Given the description of an element on the screen output the (x, y) to click on. 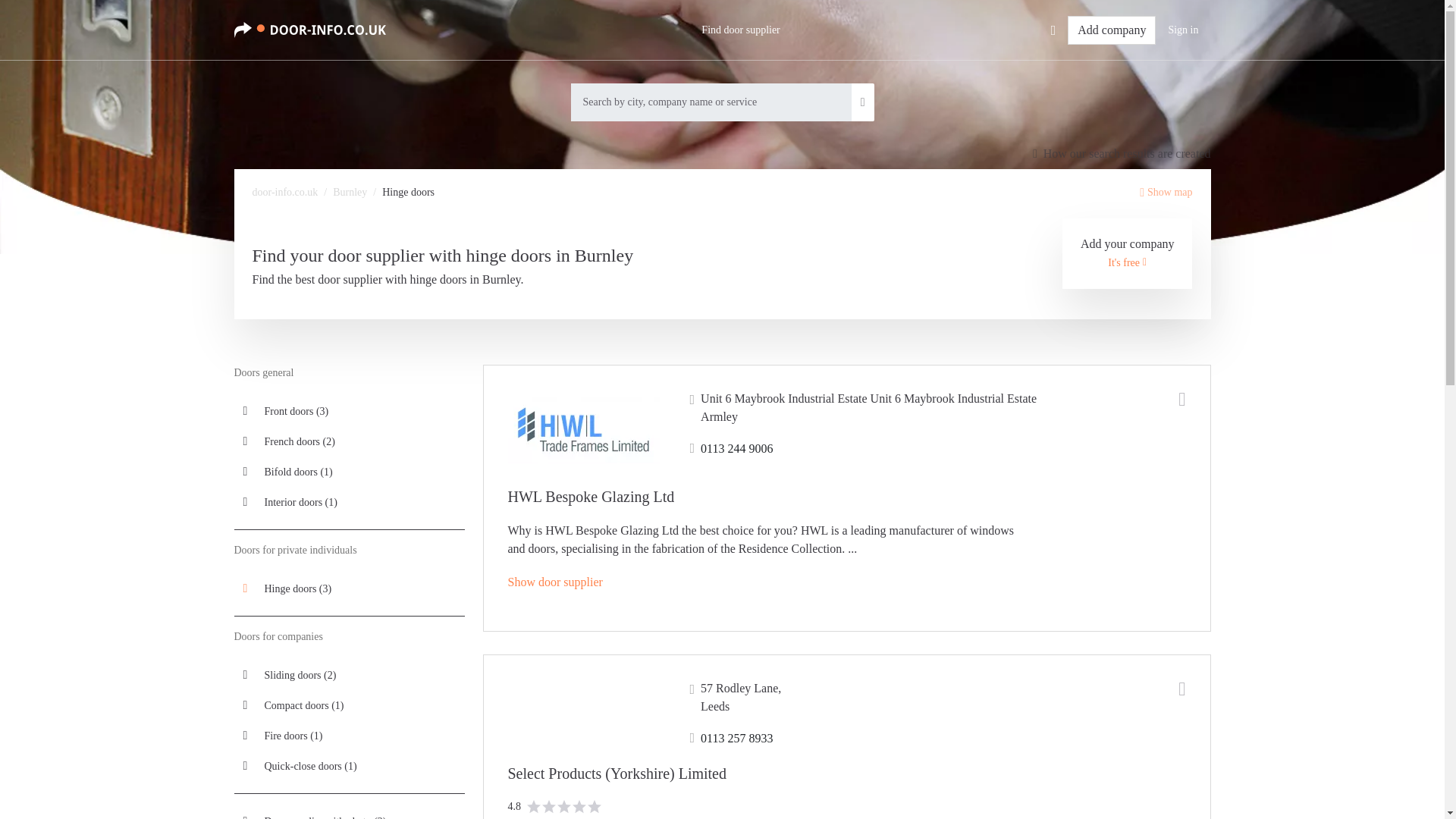
Add company (1111, 29)
Find door supplier (740, 29)
